Given the description of an element on the screen output the (x, y) to click on. 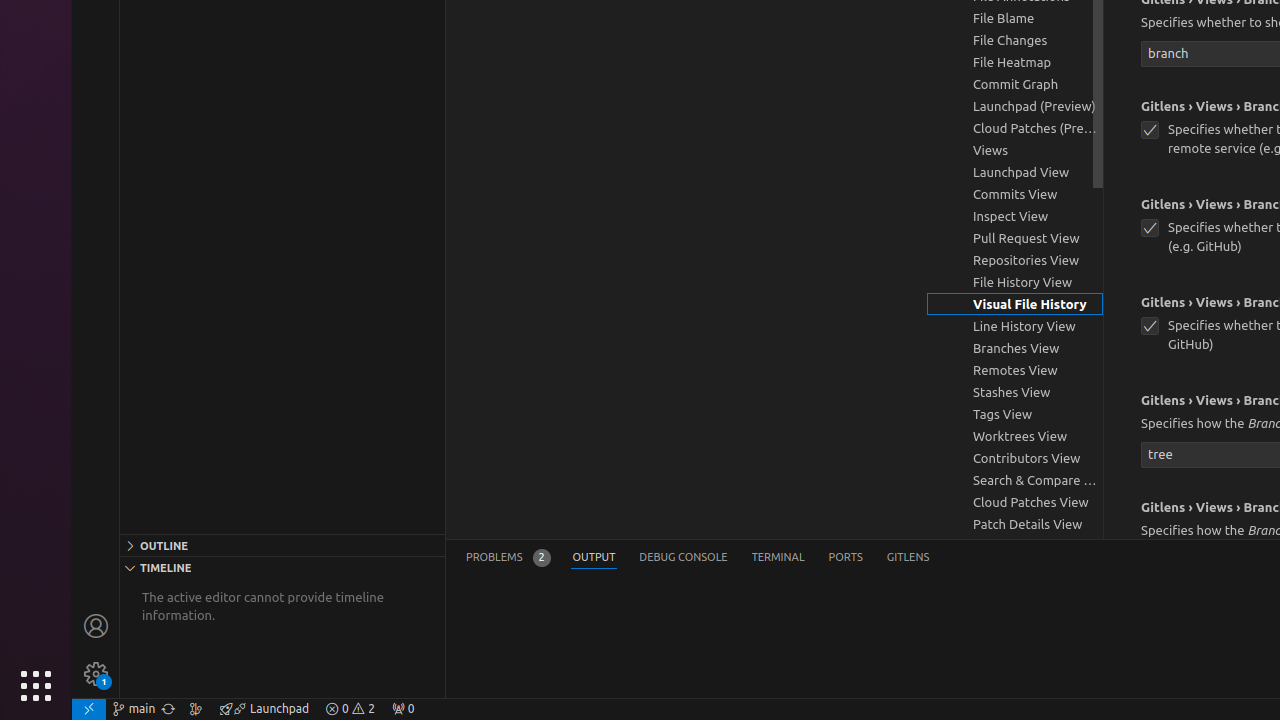
Remotes View, group Element type: tree-item (1015, 370)
Commit Graph, group Element type: tree-item (1015, 84)
GitKraken Workspaces View, group Element type: tree-item (1015, 546)
remote Element type: push-button (89, 709)
gitlens.views.branches.pullRequests.enabled Element type: check-box (1150, 130)
